Given the description of an element on the screen output the (x, y) to click on. 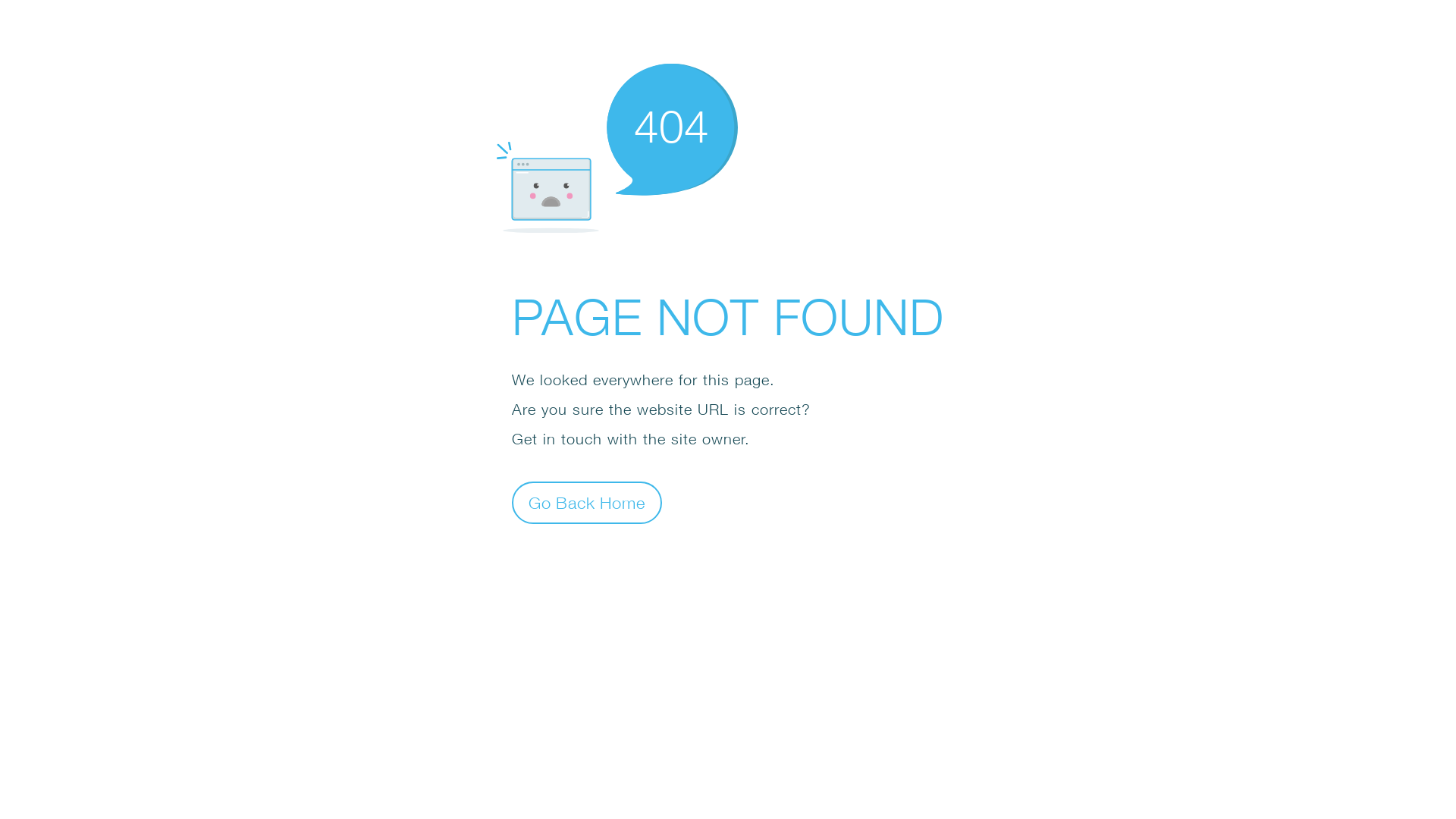
Go Back Home Element type: text (586, 502)
